Given the description of an element on the screen output the (x, y) to click on. 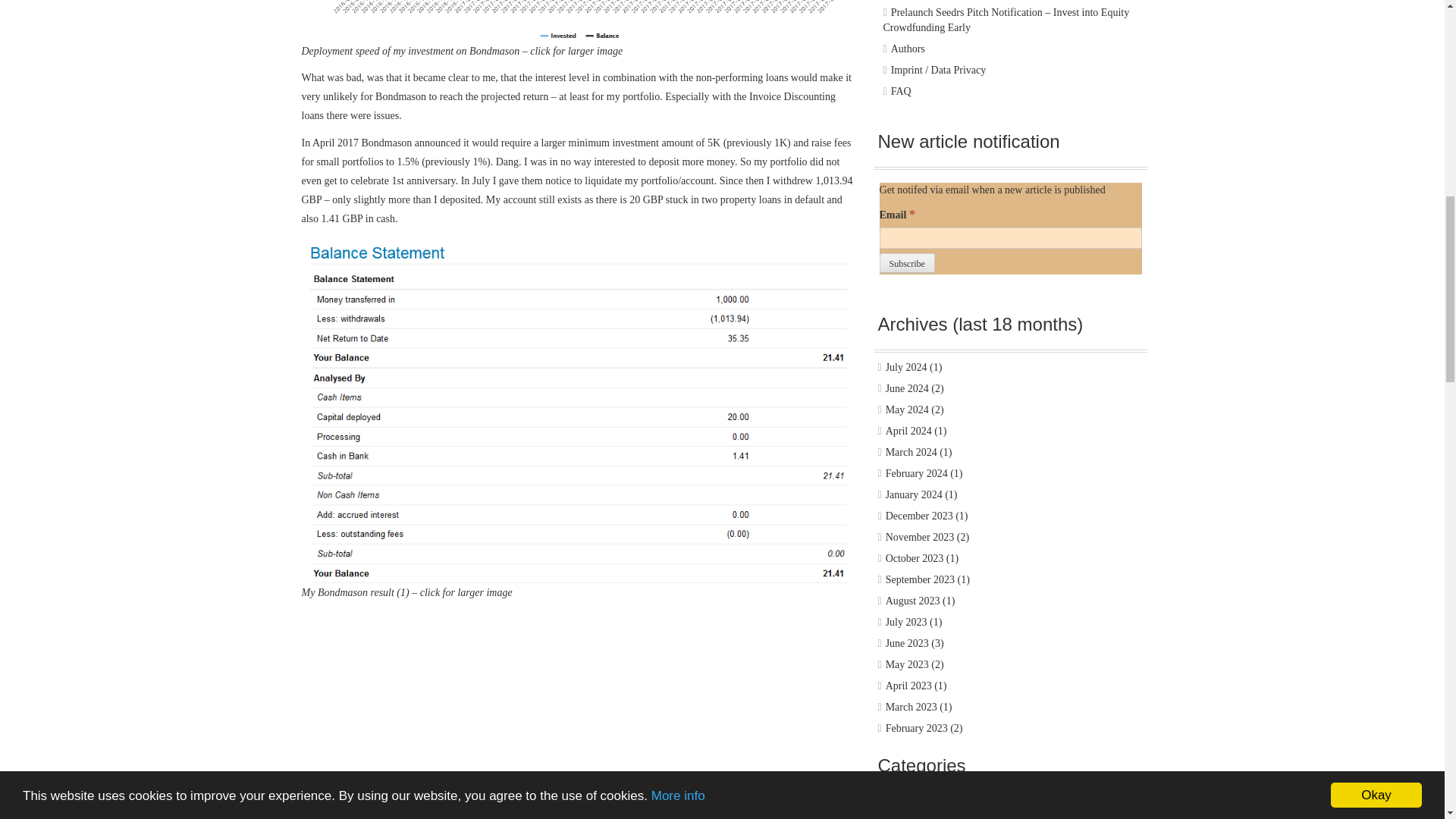
More info (677, 19)
Subscribe (906, 262)
Okay (1376, 25)
